Given the description of an element on the screen output the (x, y) to click on. 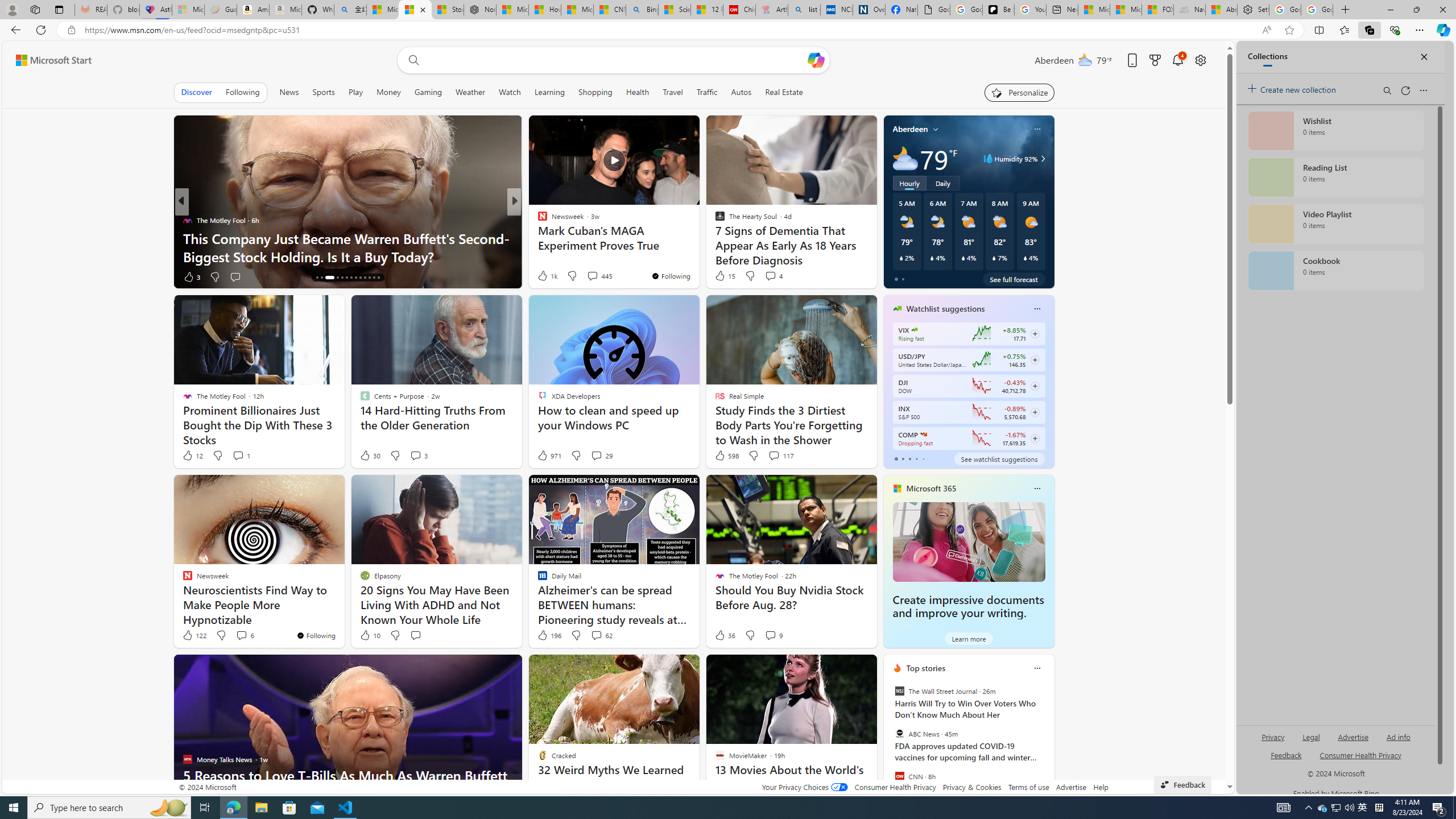
AutomationID: tab-24 (368, 277)
View comments 88 Comment (597, 276)
How I Got Rid of Microsoft Edge's Unnecessary Features (545, 9)
Google Analytics Opt-out Browser Add-on Download Page (933, 9)
View comments 40 Comment (592, 276)
View comments 4 Comment (770, 275)
PC World (537, 219)
View comments 62 Comment (601, 634)
Bing (641, 9)
